Given the description of an element on the screen output the (x, y) to click on. 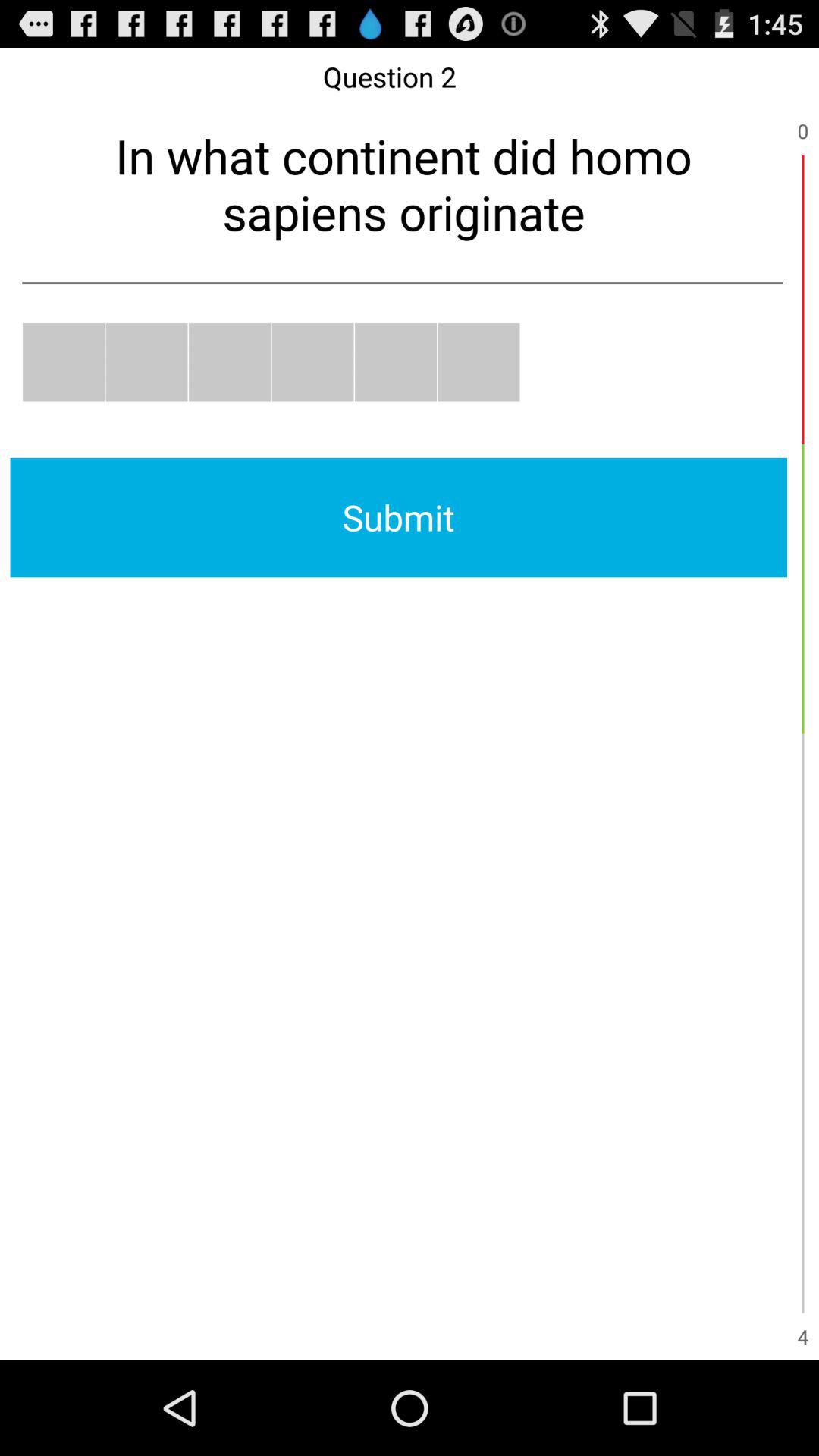
select item above the submit icon (63, 362)
